Given the description of an element on the screen output the (x, y) to click on. 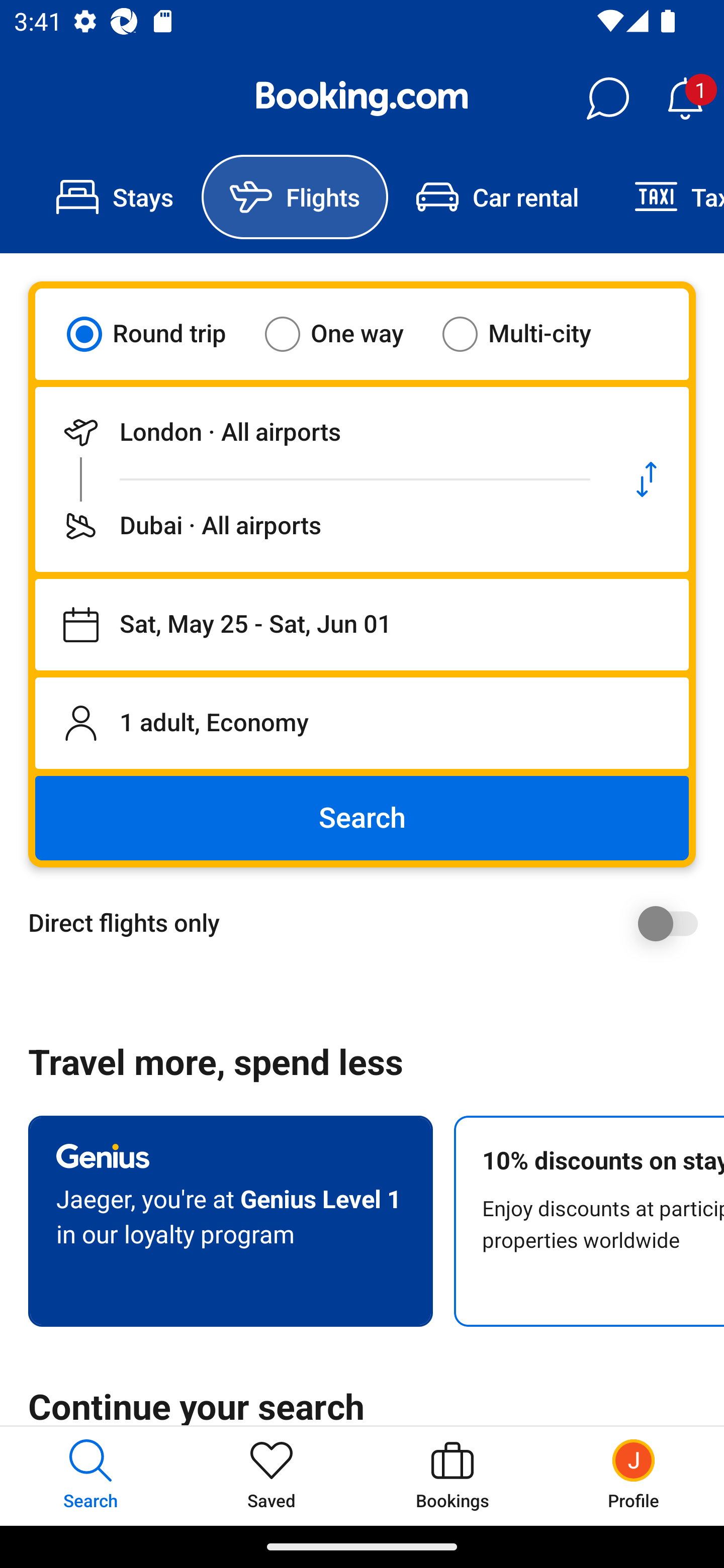
Messages (607, 98)
Notifications (685, 98)
Stays (114, 197)
Flights (294, 197)
Car rental (497, 197)
Taxi (665, 197)
One way (346, 333)
Multi-city (528, 333)
Departing from London · All airports (319, 432)
Swap departure location and destination (646, 479)
Flying to Dubai · All airports (319, 525)
Departing on Sat, May 25, returning on Sat, Jun 01 (361, 624)
1 adult, Economy (361, 722)
Search (361, 818)
Direct flights only (369, 923)
Saved (271, 1475)
Bookings (452, 1475)
Profile (633, 1475)
